Given the description of an element on the screen output the (x, y) to click on. 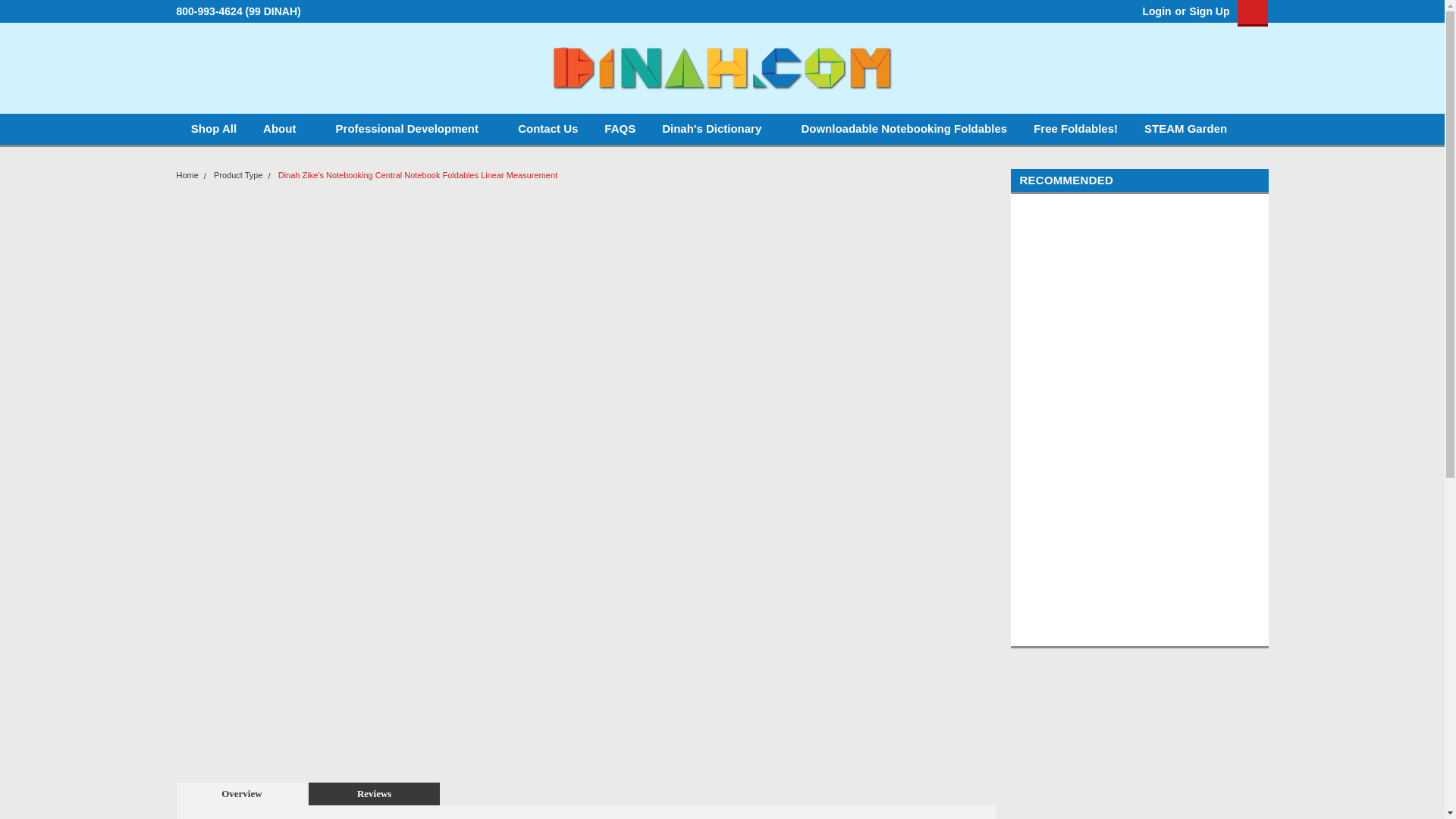
Sign Up (1208, 11)
NCSS DINAH.COM (722, 67)
Login (1155, 11)
